Given the description of an element on the screen output the (x, y) to click on. 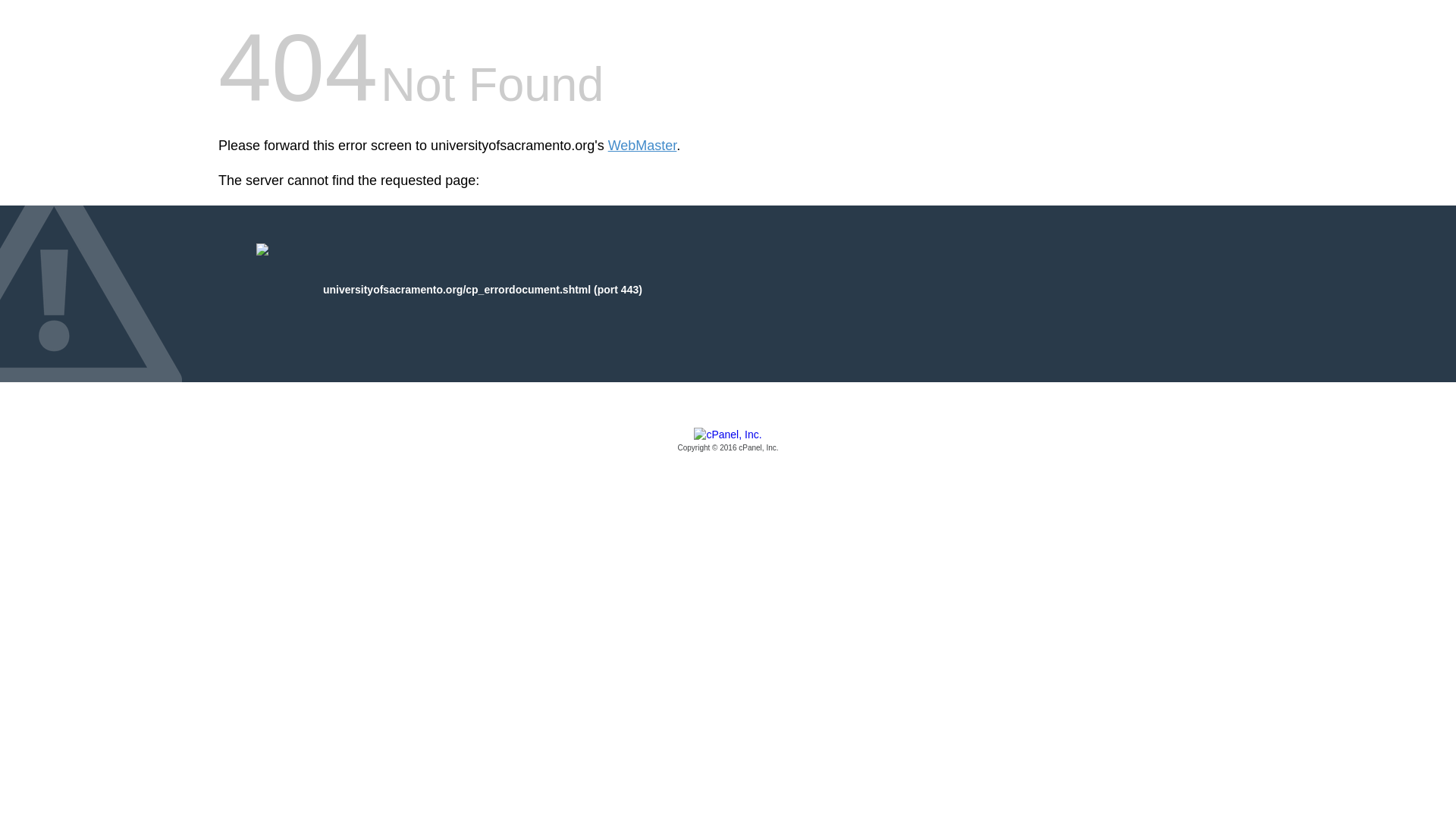
WebMaster (642, 145)
cPanel, Inc. (727, 440)
